Given the description of an element on the screen output the (x, y) to click on. 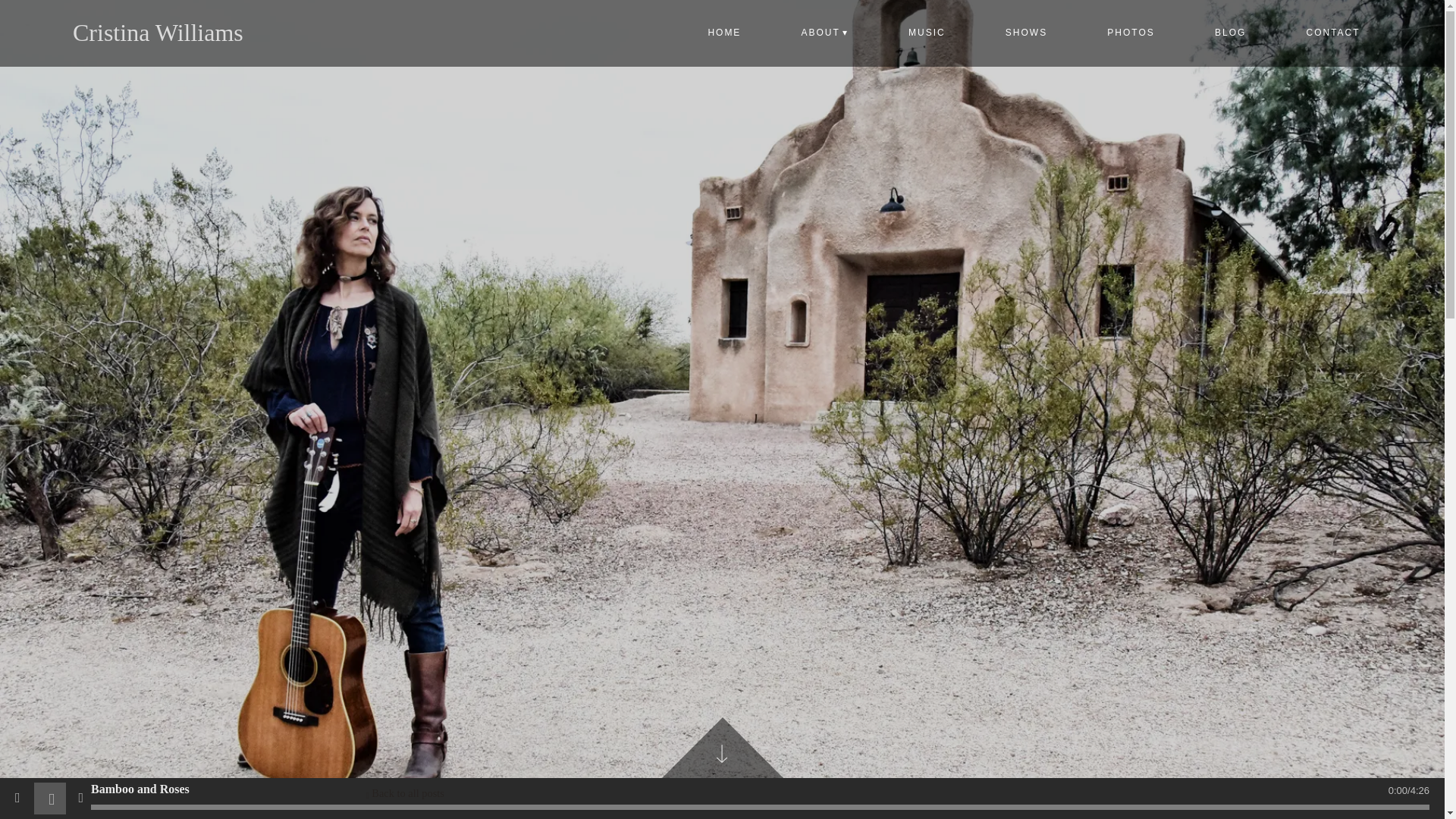
PHOTOS (1131, 32)
ABOUT (824, 32)
MUSIC (926, 32)
BLOG (1230, 32)
SHOWS (1025, 32)
Back to all posts (404, 793)
CONTACT (1332, 32)
Cristina Williams (157, 32)
HOME (723, 32)
